Given the description of an element on the screen output the (x, y) to click on. 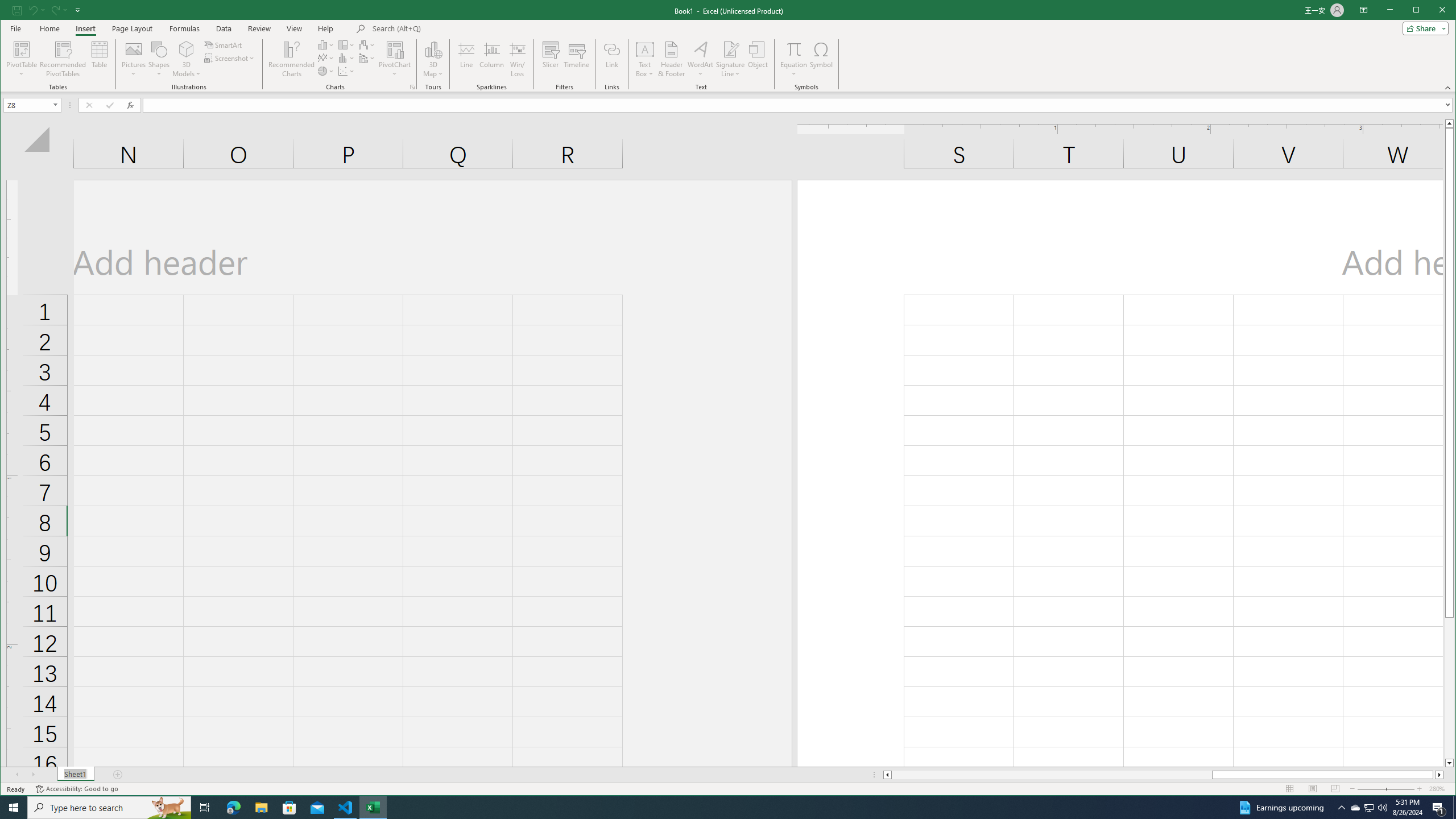
3D Models (1355, 807)
Symbol... (186, 48)
Header & Footer... (821, 59)
3D Map (670, 59)
WordArt (432, 48)
3D Map (699, 59)
